Given the description of an element on the screen output the (x, y) to click on. 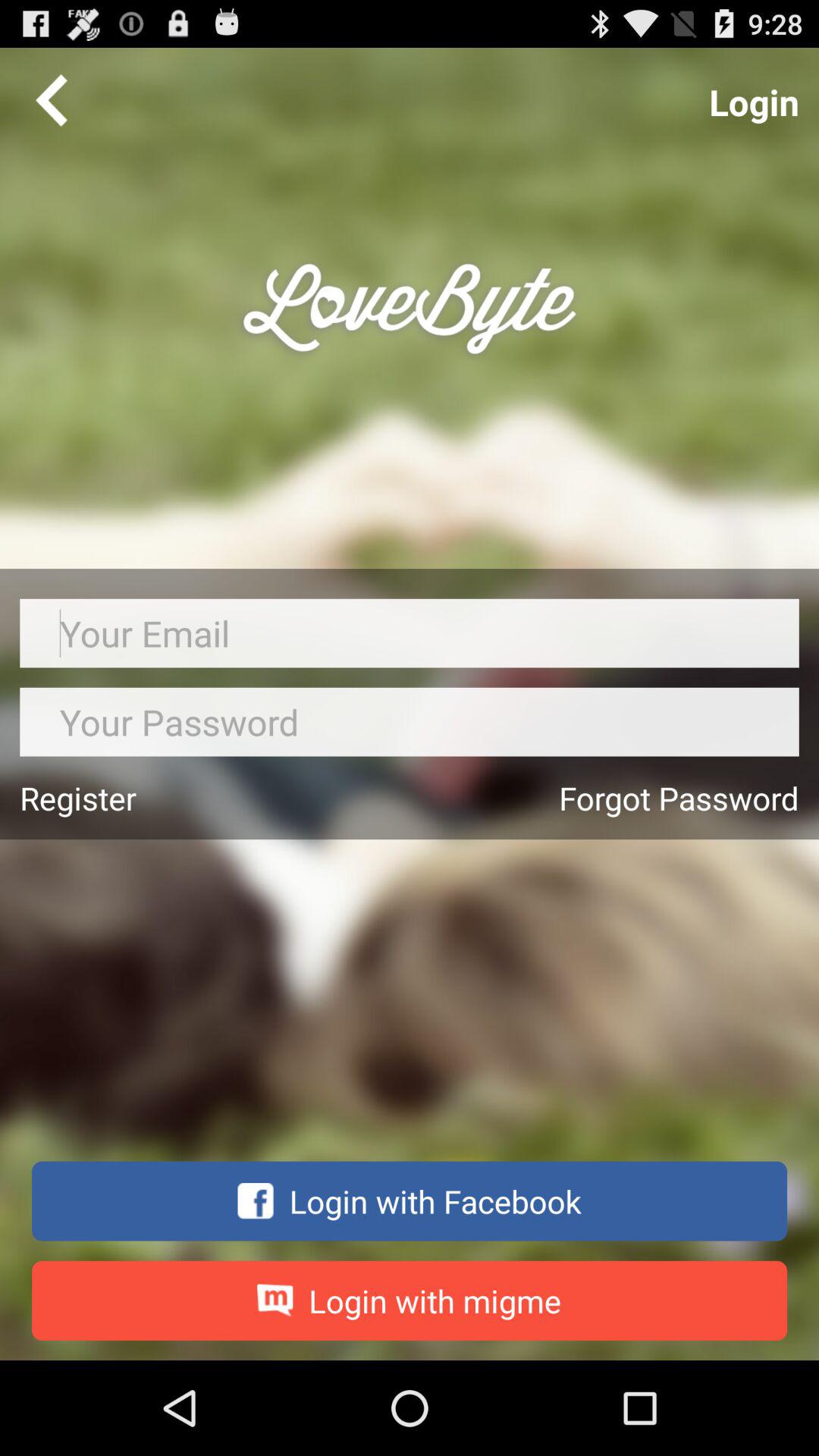
email field (409, 632)
